Given the description of an element on the screen output the (x, y) to click on. 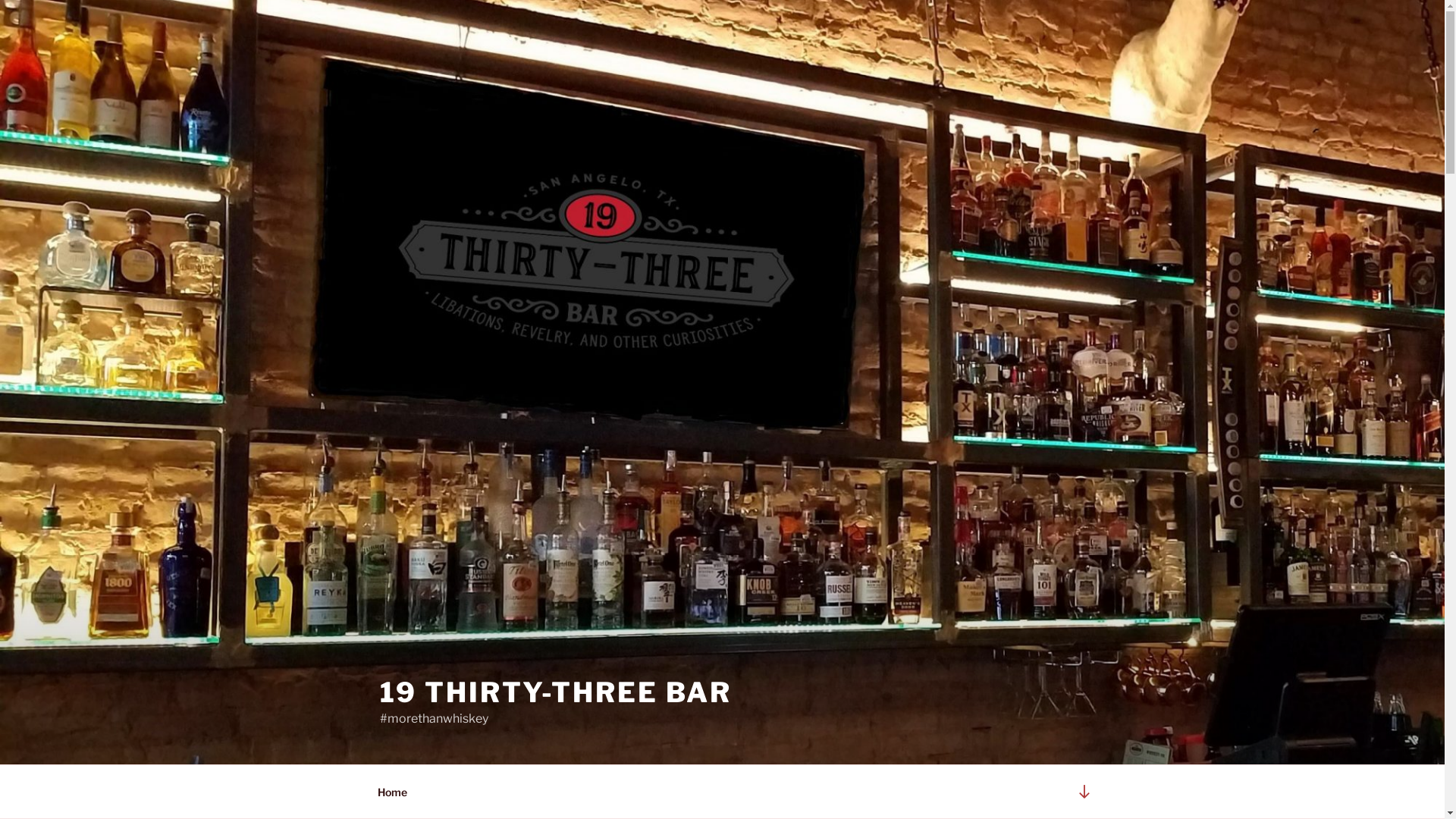
Home Element type: text (392, 791)
Skip to content Element type: text (0, 0)
Scroll down to content Element type: text (1083, 790)
19 THIRTY-THREE BAR Element type: text (555, 692)
